Given the description of an element on the screen output the (x, y) to click on. 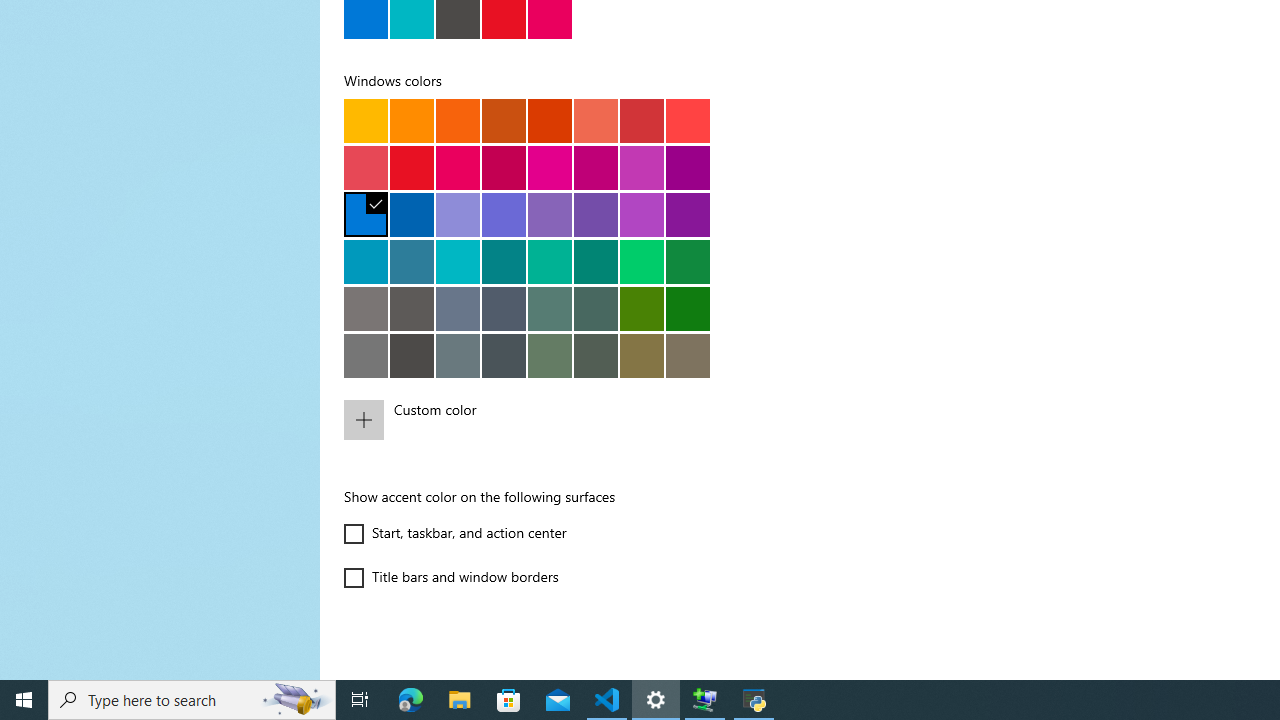
Orange dark (504, 120)
Rust (549, 120)
Yellow gold (365, 120)
Gray (365, 308)
Metal blue (504, 308)
Green (687, 308)
Extensible Wizards Host Process - 1 running window (704, 699)
Steel blue (458, 308)
Cool blue (411, 261)
Camouflage desert (641, 355)
Plum light (549, 167)
Cool blue bright (365, 261)
